Given the description of an element on the screen output the (x, y) to click on. 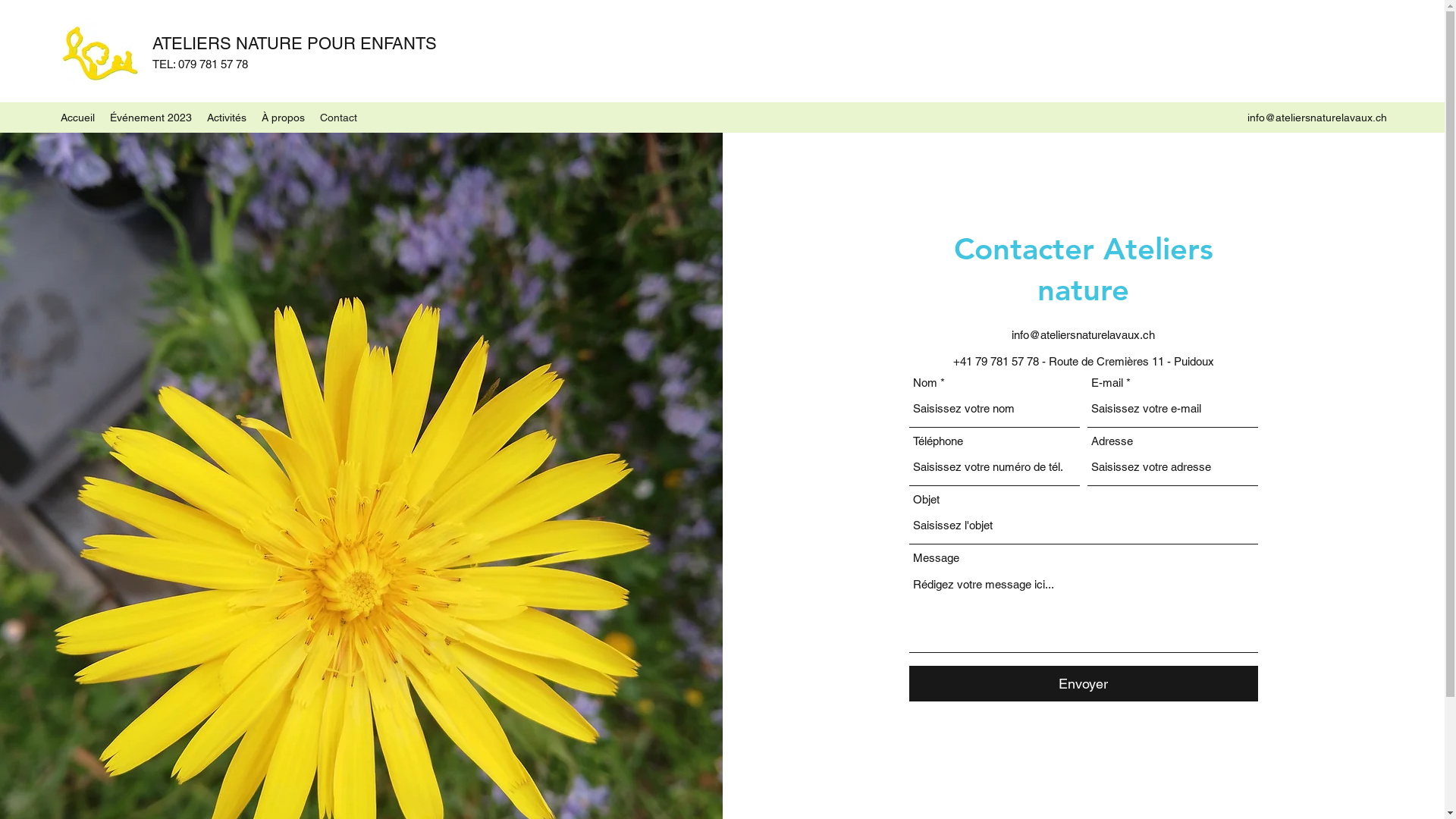
Accueil Element type: text (77, 117)
info@ateliersnaturelavaux.ch Element type: text (1316, 117)
Envoyer Element type: text (1083, 683)
info@ateliersnaturelavaux.ch Element type: text (1082, 334)
Contact Element type: text (338, 117)
